Given the description of an element on the screen output the (x, y) to click on. 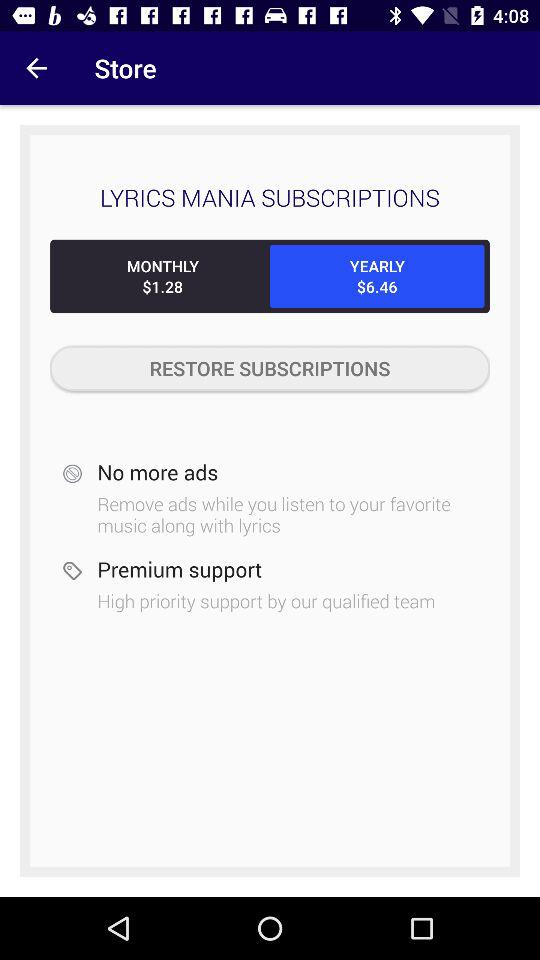
select the icon below monthly
$1.28 item (269, 368)
